Given the description of an element on the screen output the (x, y) to click on. 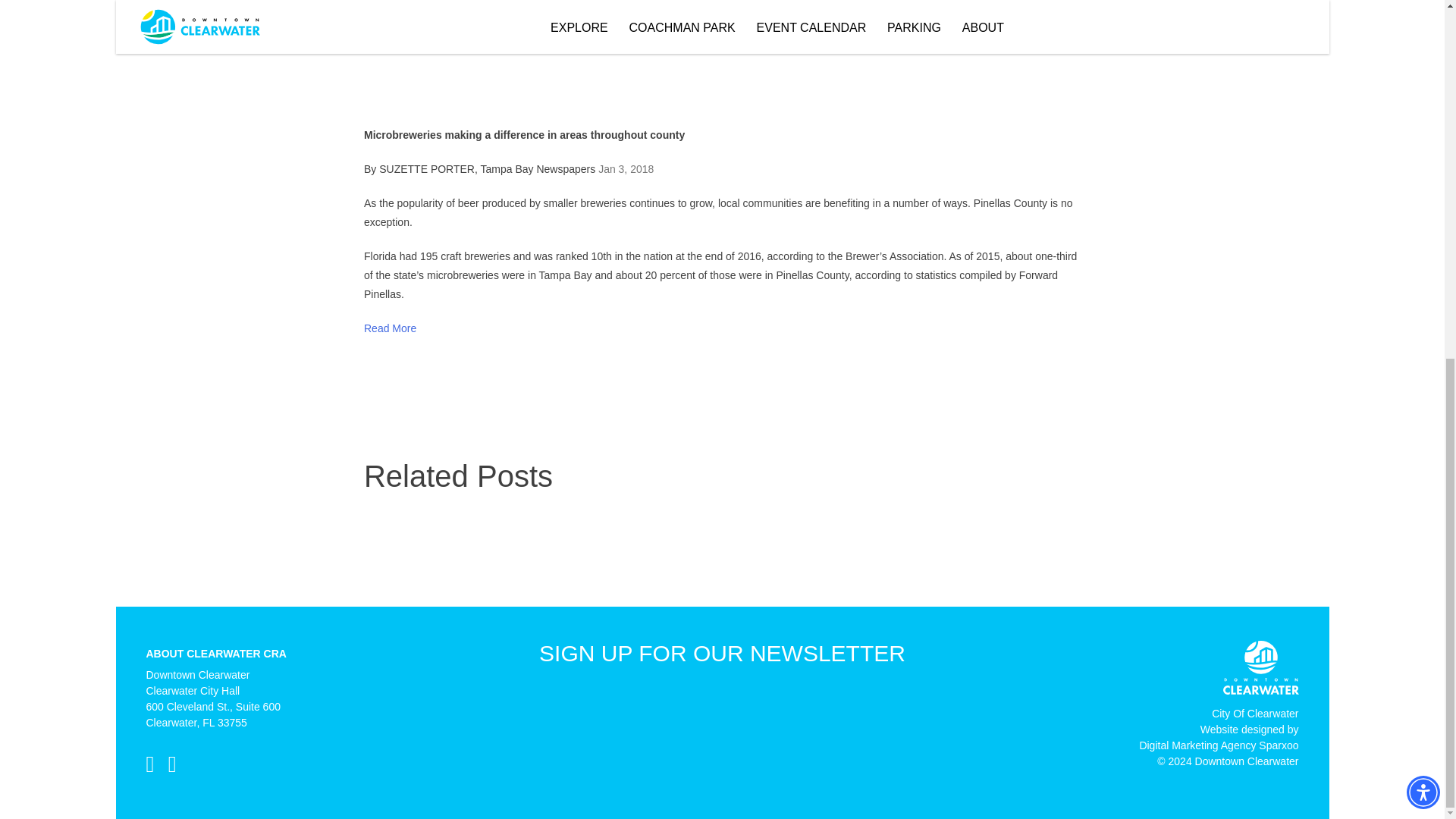
ABOUT CLEARWATER CRA (215, 653)
City Of Clearwater (1218, 742)
Read More (1254, 719)
Accessibility Menu (390, 328)
